Given the description of an element on the screen output the (x, y) to click on. 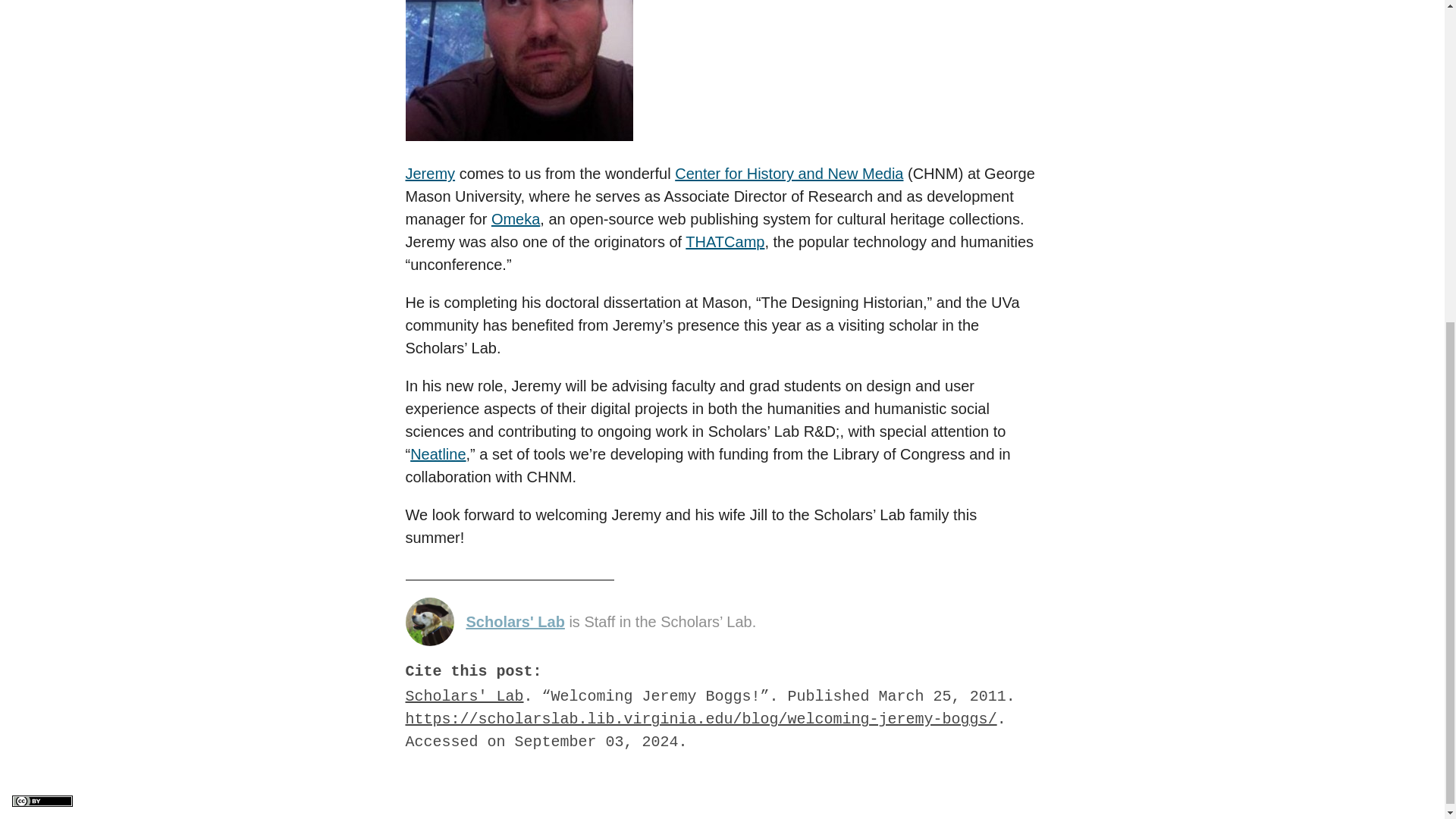
THATCamp (724, 241)
Omeka (516, 218)
Center for History and New Media (788, 173)
Jeremy (429, 173)
Scholars' Lab (514, 621)
Neatline (437, 453)
